Given the description of an element on the screen output the (x, y) to click on. 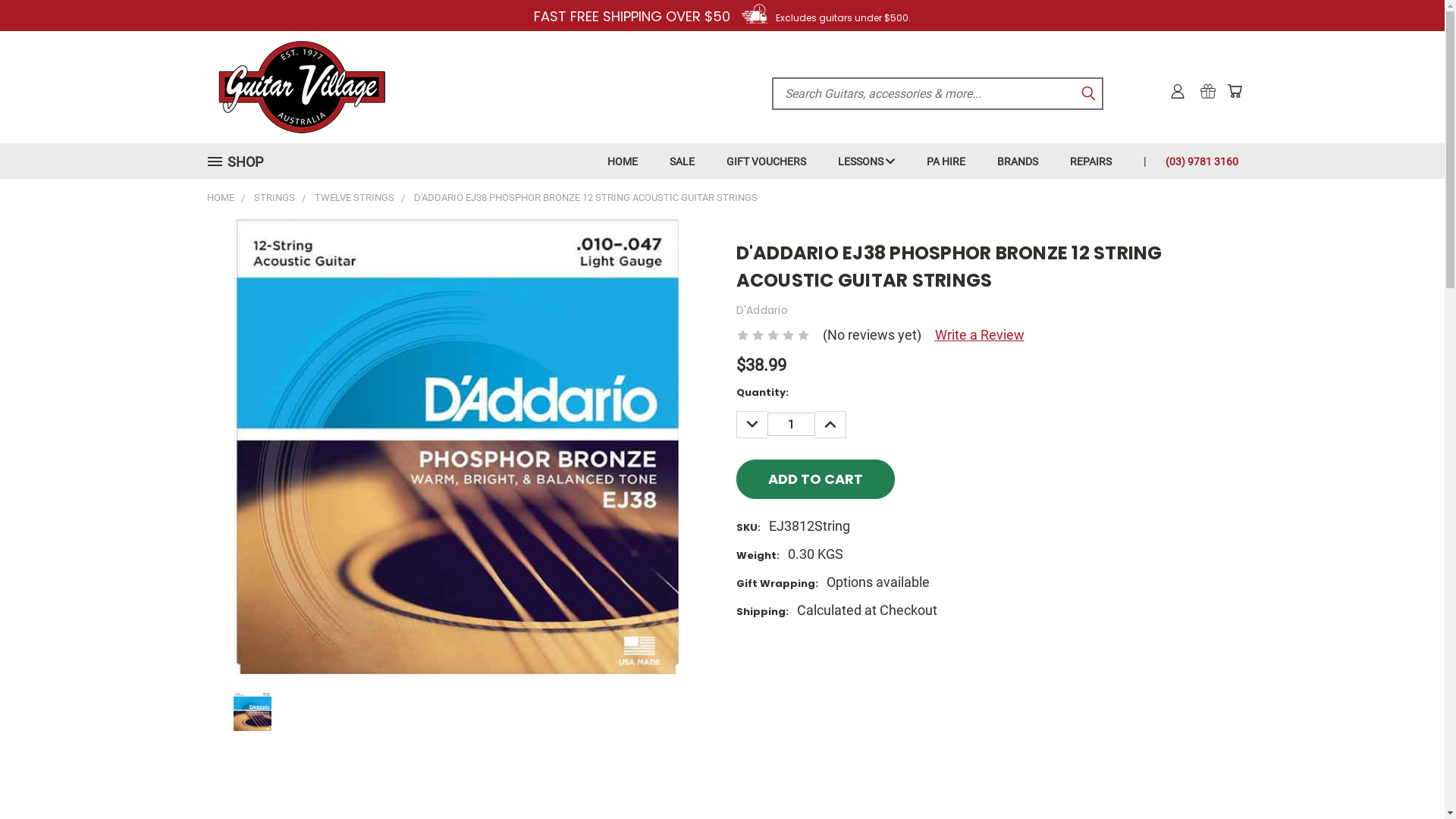
STRINGS Element type: text (273, 197)
TWELVE STRINGS Element type: text (353, 197)
submit Element type: hover (1087, 92)
HOME Element type: text (622, 160)
SALE Element type: text (681, 160)
LESSONS Element type: text (866, 160)
FAST FREE SHIPPING OVER $50 Excludes guitars under $500. Element type: text (721, 15)
HOME Element type: text (219, 197)
PA HIRE Element type: text (945, 160)
Add to Cart Element type: text (814, 478)
Write a Review Element type: text (978, 334)
INCREASE QUANTITY: Element type: text (829, 424)
(03) 9781 3160 Element type: text (1193, 160)
DECREASE QUANTITY: Element type: text (750, 424)
Guitar Village Element type: hover (300, 86)
D'Addario Element type: text (761, 308)
REPAIRS Element type: text (1090, 160)
GIFT VOUCHERS Element type: text (766, 160)
SHOP Element type: text (242, 161)
BRANDS Element type: text (1017, 160)
